Given the description of an element on the screen output the (x, y) to click on. 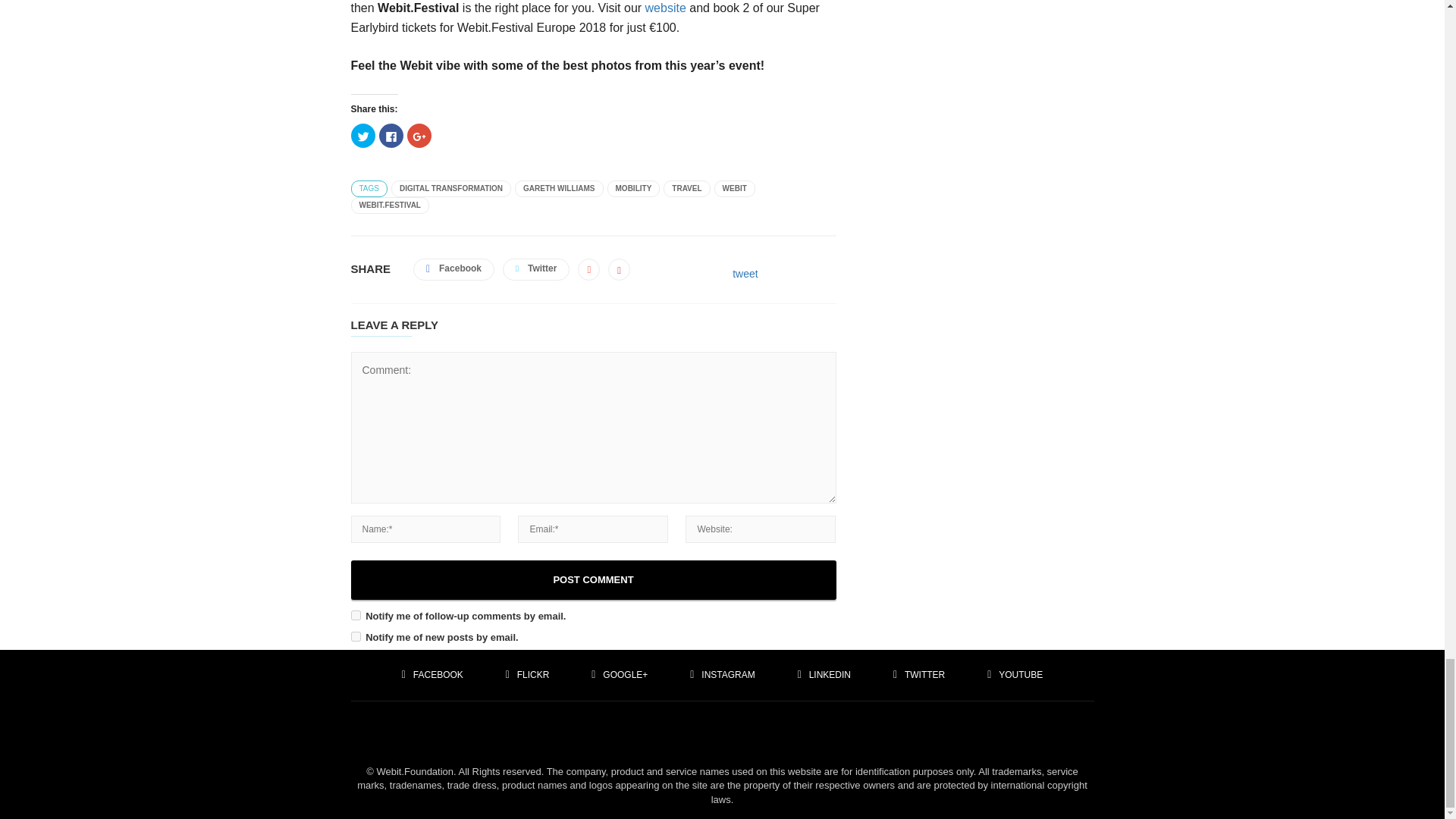
subscribe (354, 614)
MOBILITY (634, 188)
DIGITAL TRANSFORMATION (451, 188)
GARETH WILLIAMS (558, 188)
subscribe (354, 636)
Post Comment (592, 579)
website (665, 7)
